Given the description of an element on the screen output the (x, y) to click on. 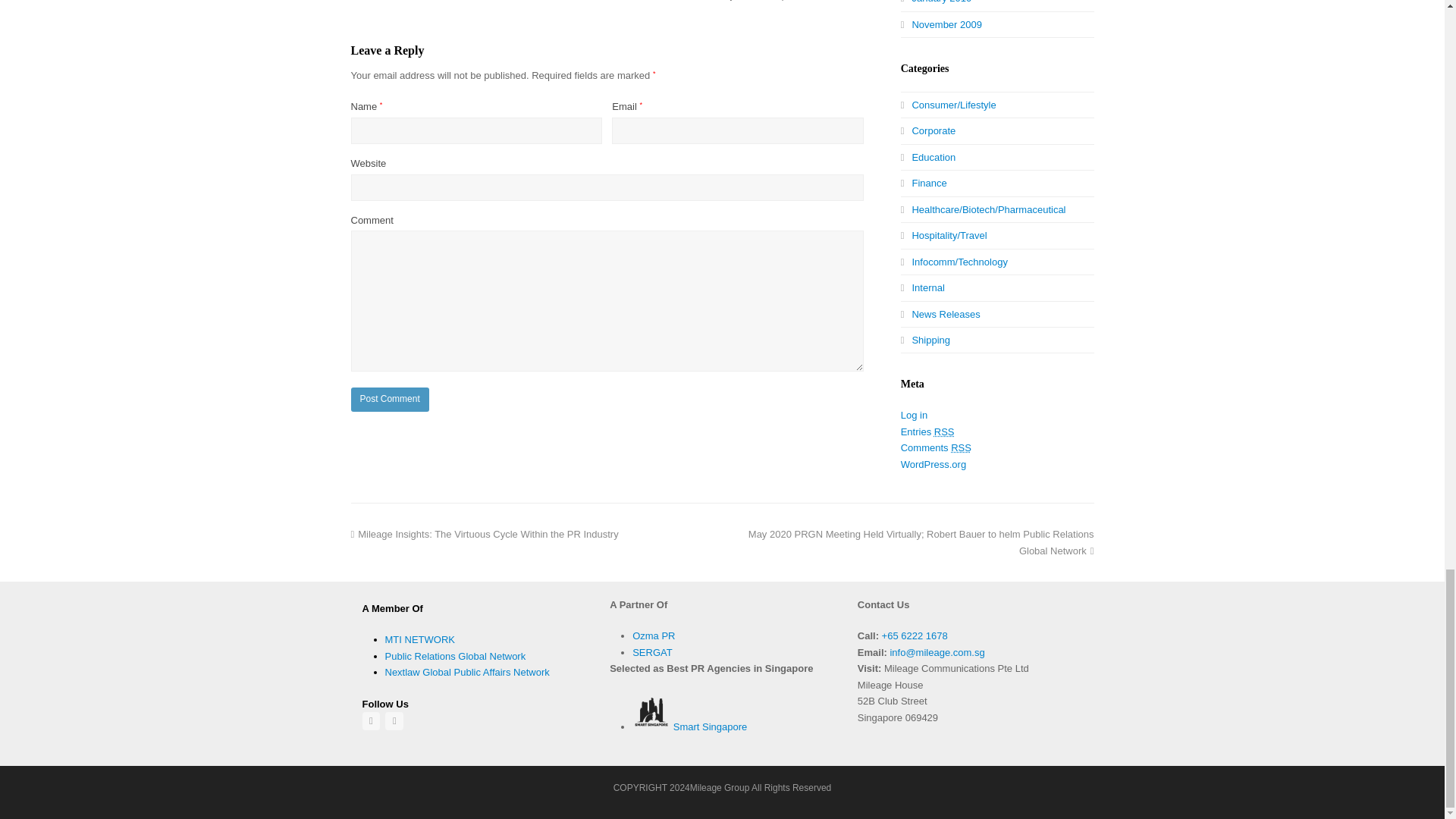
Really Simple Syndication (944, 431)
Really Simple Syndication (960, 447)
Post Comment (389, 399)
Post Comment (389, 399)
